Given the description of an element on the screen output the (x, y) to click on. 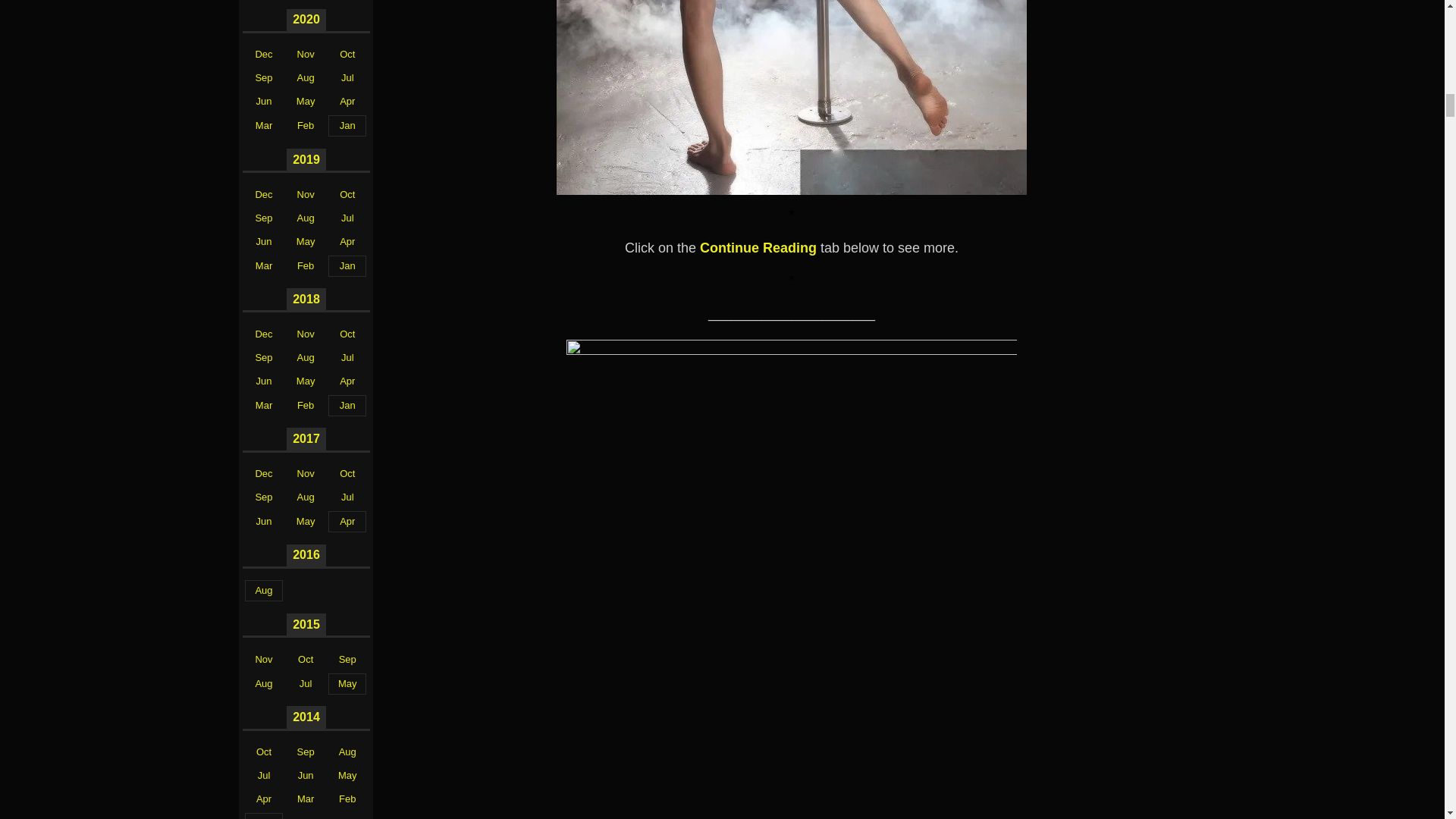
Continue Reading (758, 247)
